Given the description of an element on the screen output the (x, y) to click on. 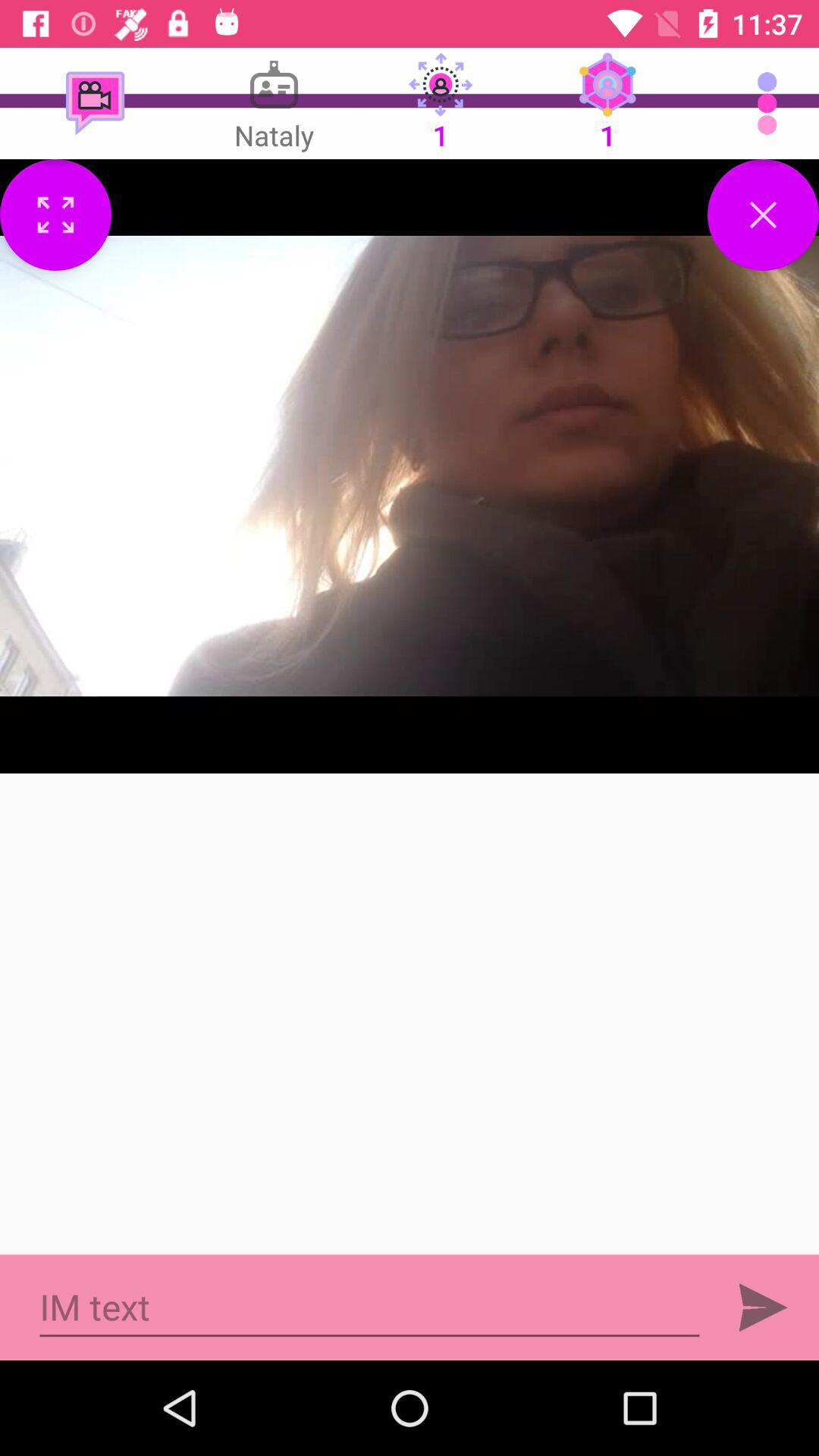
send the message (763, 1307)
